Given the description of an element on the screen output the (x, y) to click on. 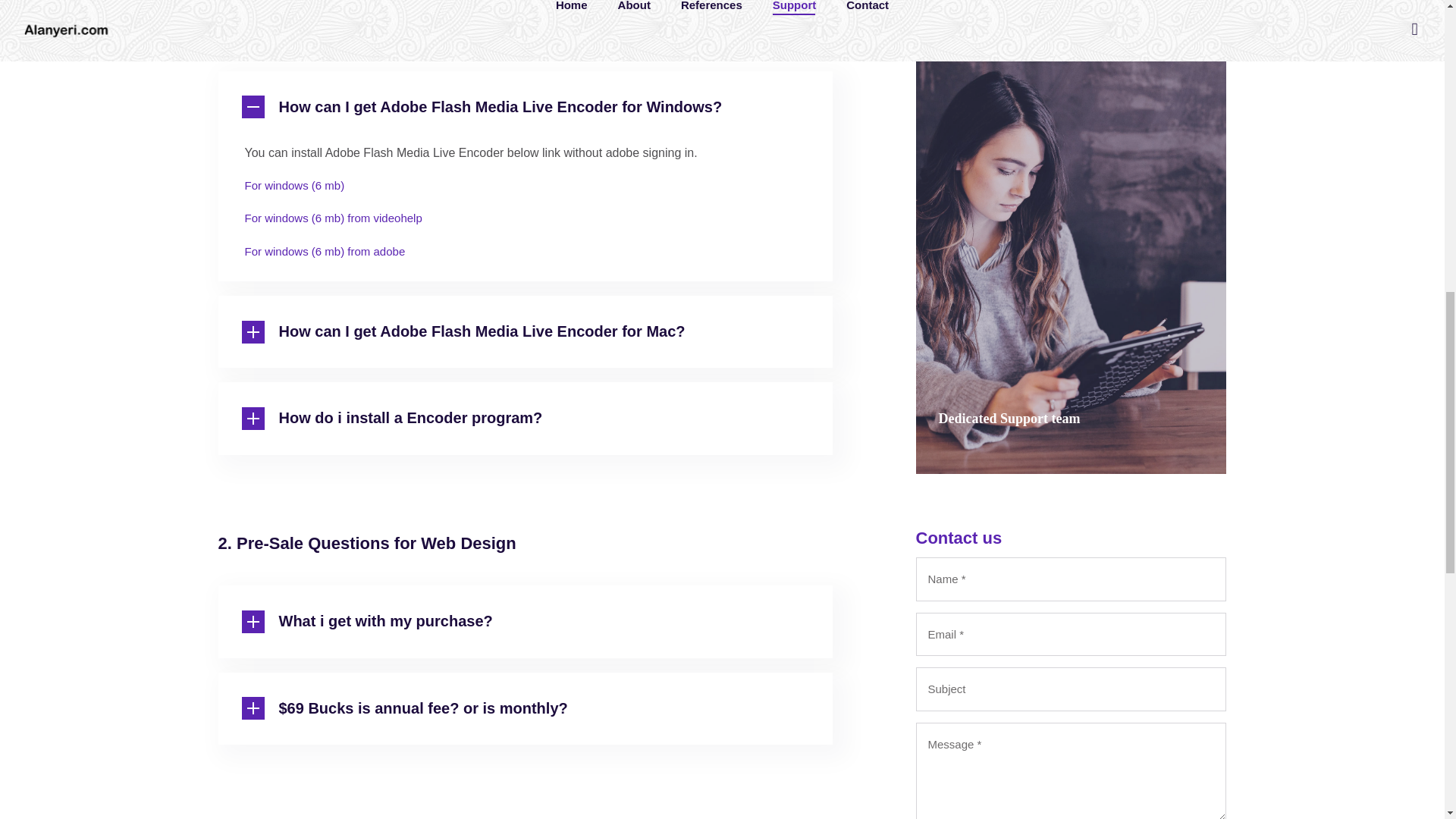
How do i install a Encoder program? (525, 418)
How can I get Adobe Flash Media Live Encoder for Mac? (525, 331)
What i get with my purchase? (525, 621)
How can I get Adobe Flash Media Live Encoder for Windows? (525, 107)
